Given the description of an element on the screen output the (x, y) to click on. 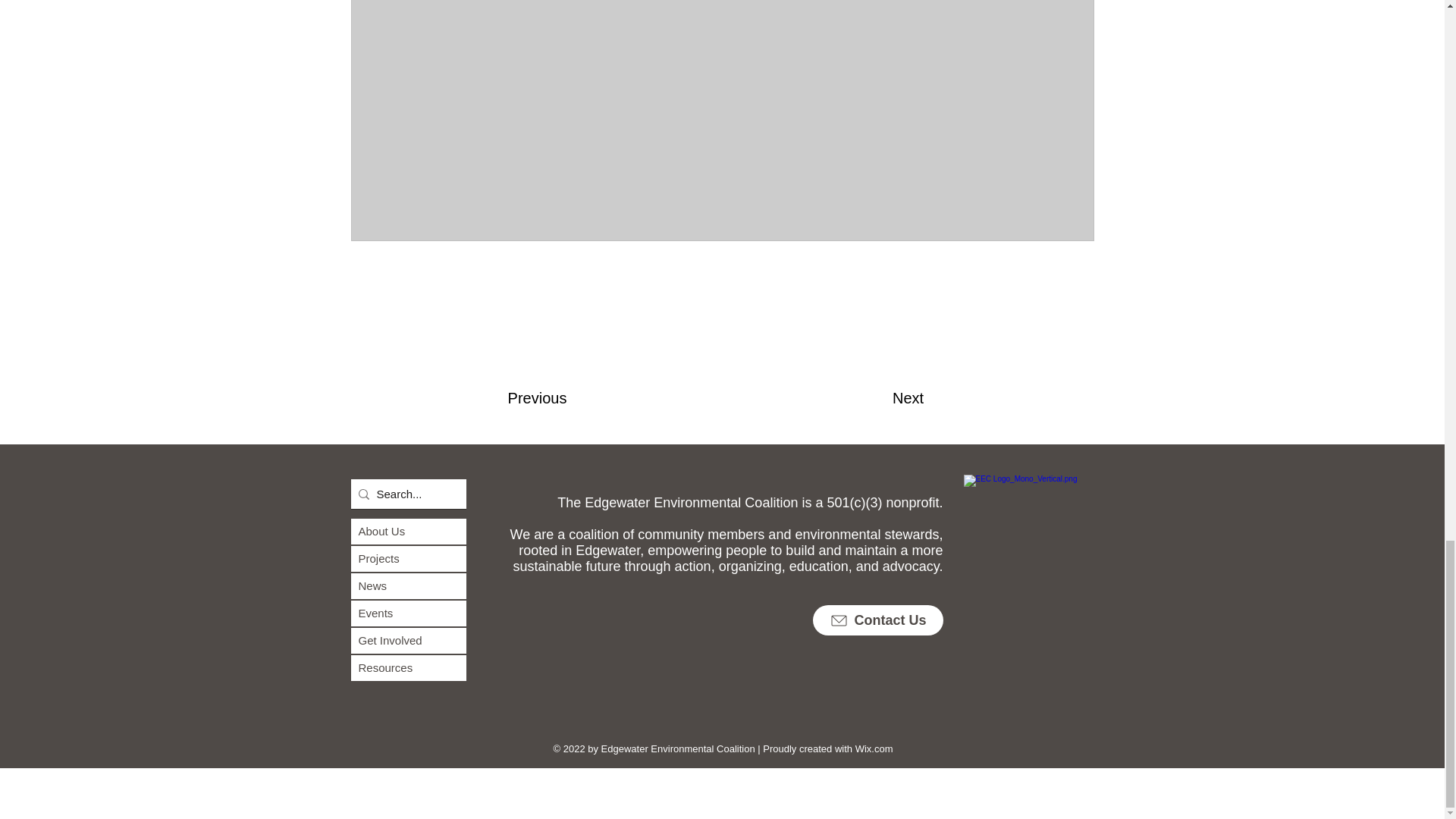
News (407, 585)
Events (407, 613)
Next (907, 398)
Resources (407, 667)
Projects (407, 558)
About Us (407, 531)
Previous (537, 398)
Get Involved (407, 640)
